Given the description of an element on the screen output the (x, y) to click on. 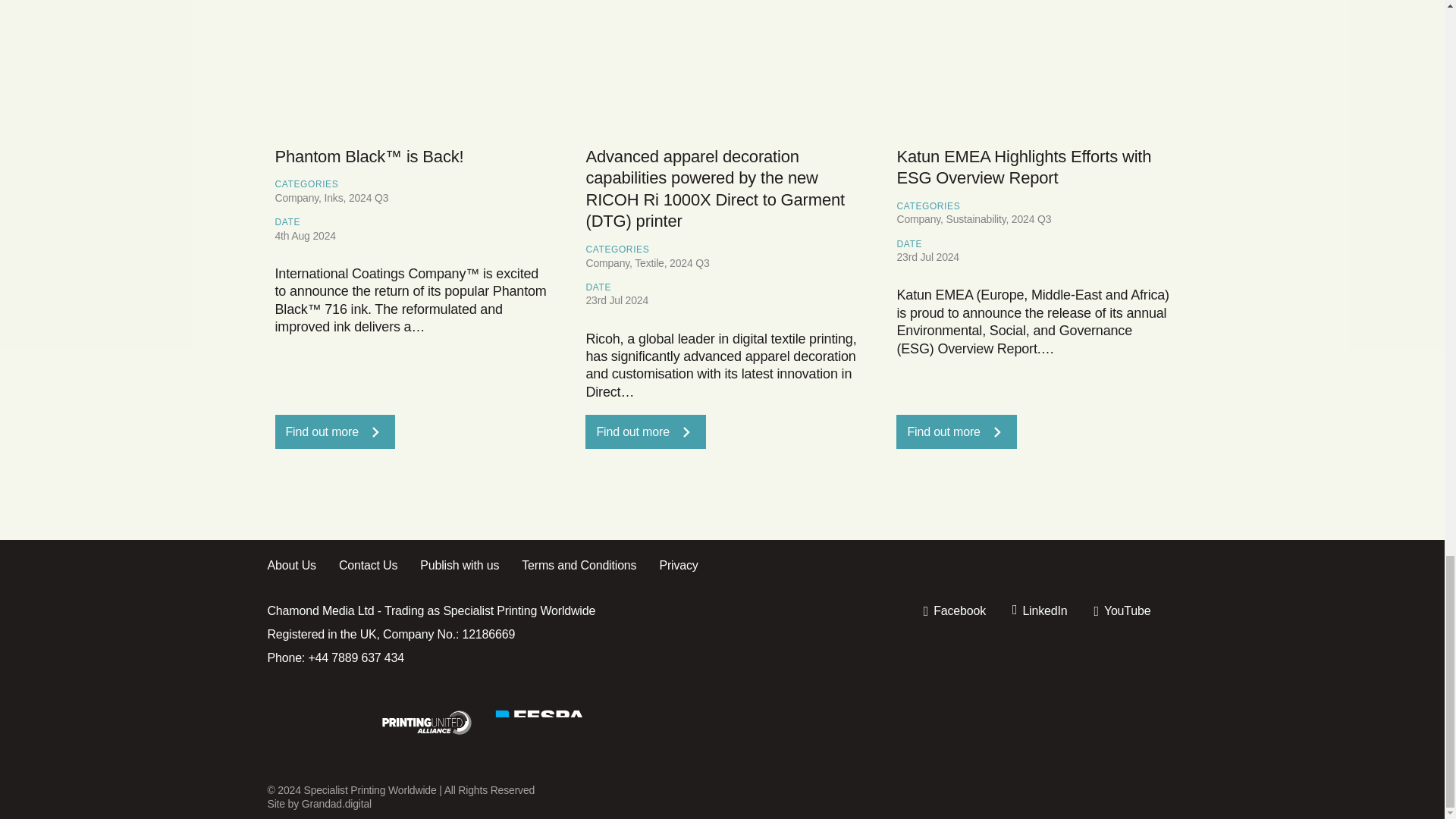
Terms and Conditions (590, 566)
Grandad Digital (336, 803)
Publish with us (470, 566)
Grandad.digital (336, 803)
About Us (301, 566)
LinkedIn (1039, 611)
Site by (283, 803)
Contact Us (379, 566)
Facebook (954, 611)
Youtube (1121, 611)
